Given the description of an element on the screen output the (x, y) to click on. 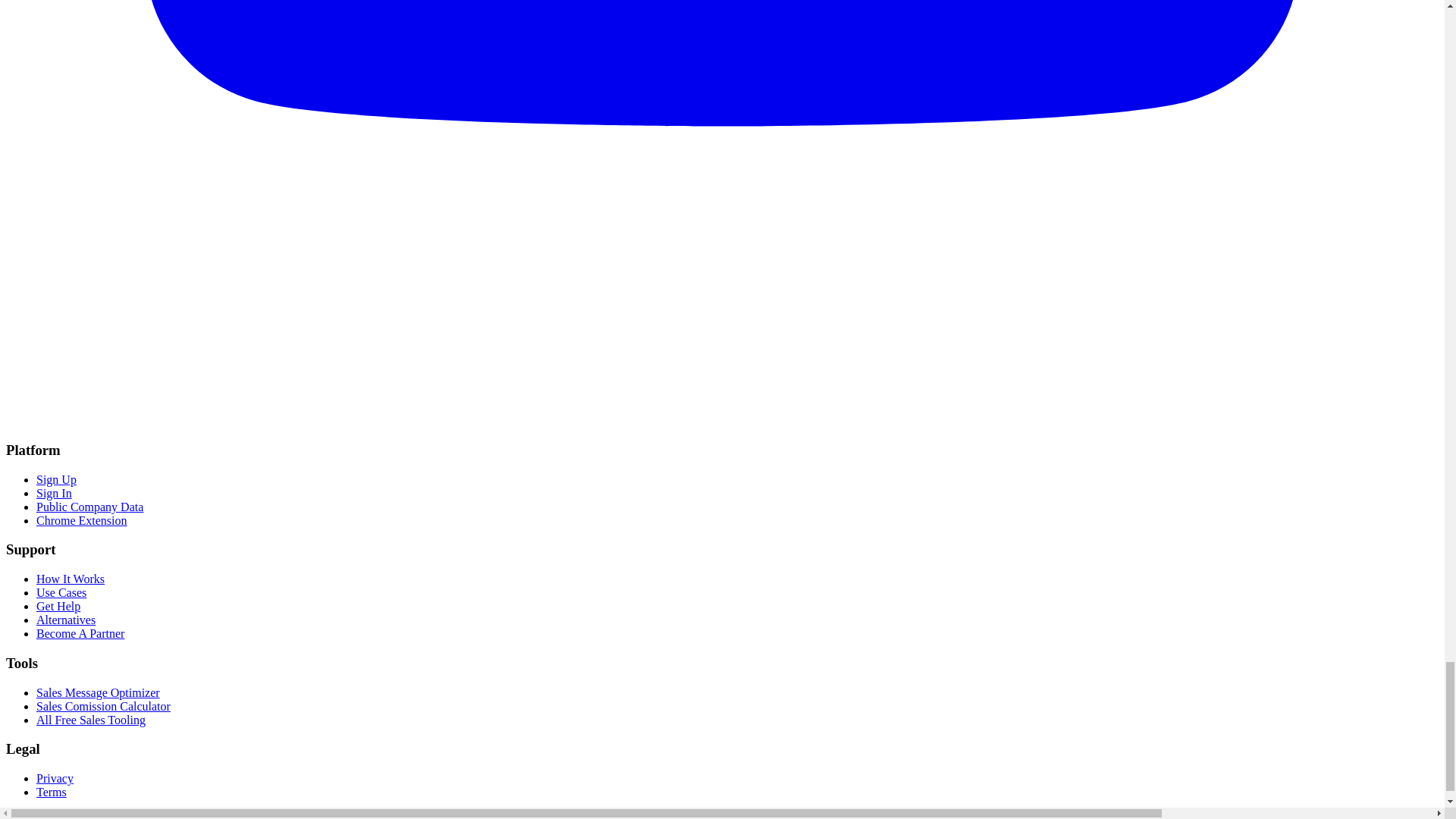
Use Cases (60, 592)
Chrome Extension (82, 520)
How It Works (70, 578)
All Free Sales Tooling (90, 719)
Public Company Data (89, 506)
Sales Message Optimizer (98, 692)
Get Help (58, 605)
Become A Partner (79, 633)
Sales Comission Calculator (103, 706)
Sign Up (56, 479)
Terms (51, 791)
Sign In (53, 492)
Privacy (55, 778)
Alternatives (66, 619)
